Given the description of an element on the screen output the (x, y) to click on. 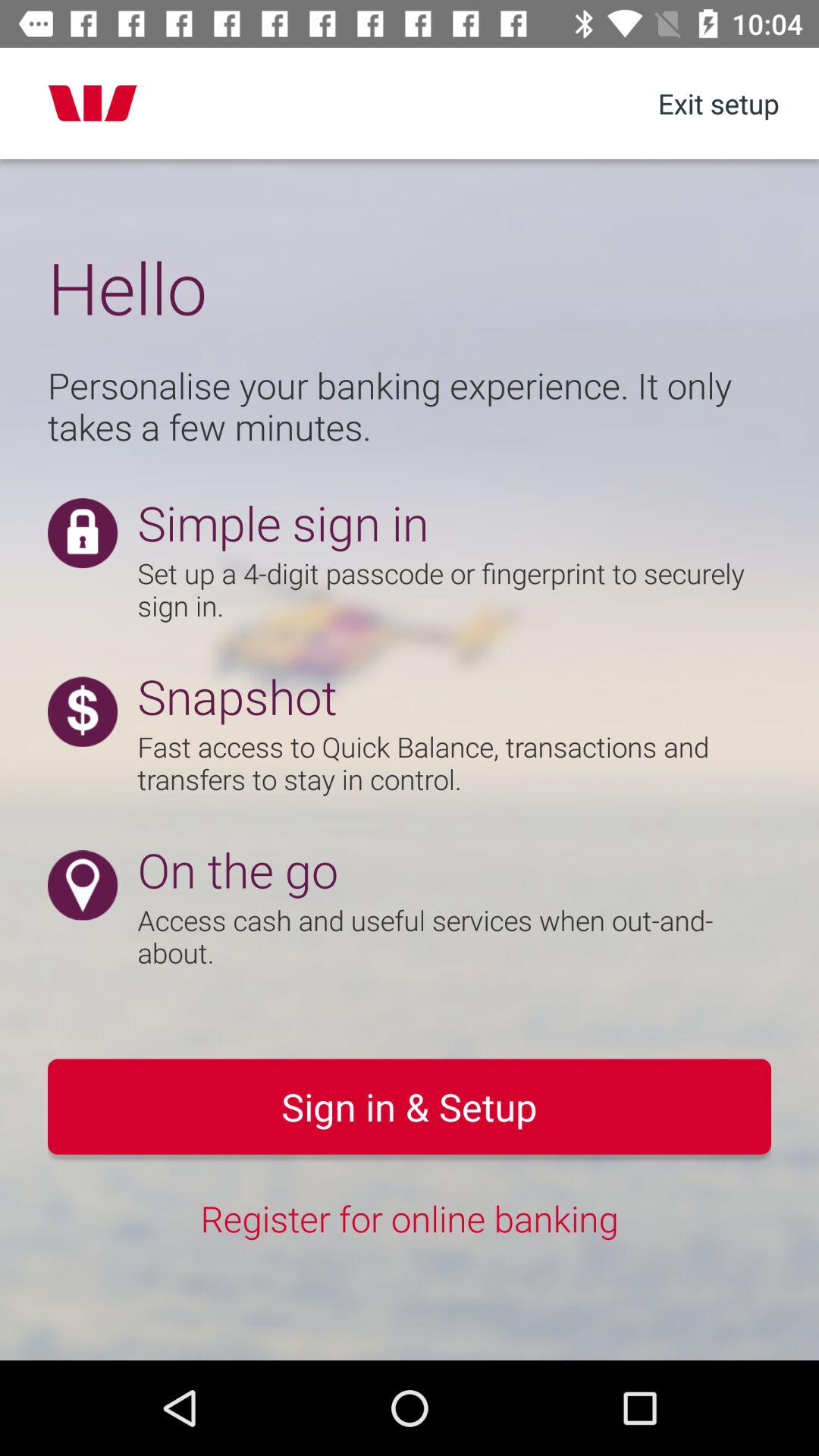
jump to register for online item (409, 1218)
